Given the description of an element on the screen output the (x, y) to click on. 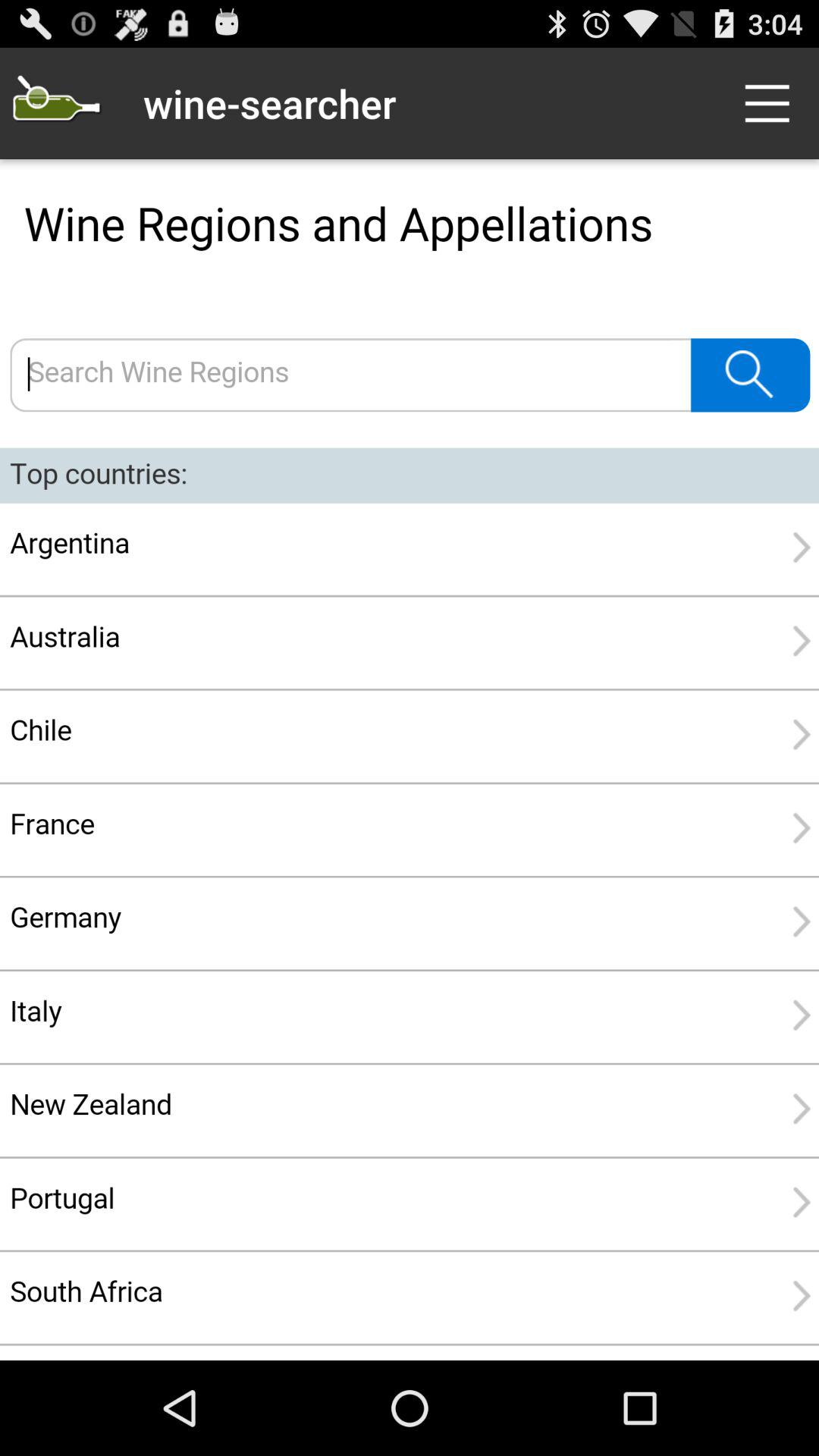
open search field (55, 103)
